Given the description of an element on the screen output the (x, y) to click on. 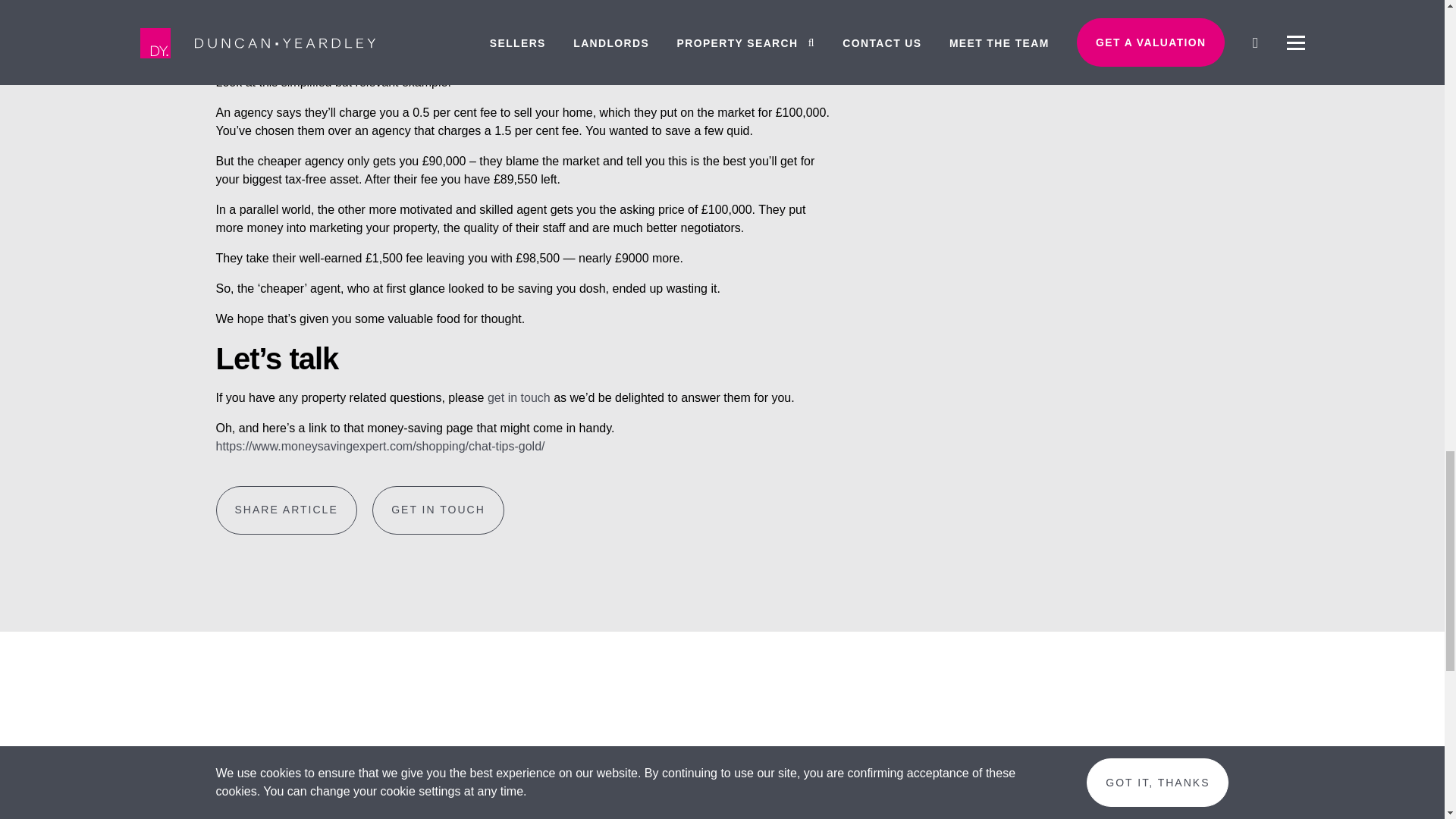
Contact Duncan Yeardley (518, 397)
